Given the description of an element on the screen output the (x, y) to click on. 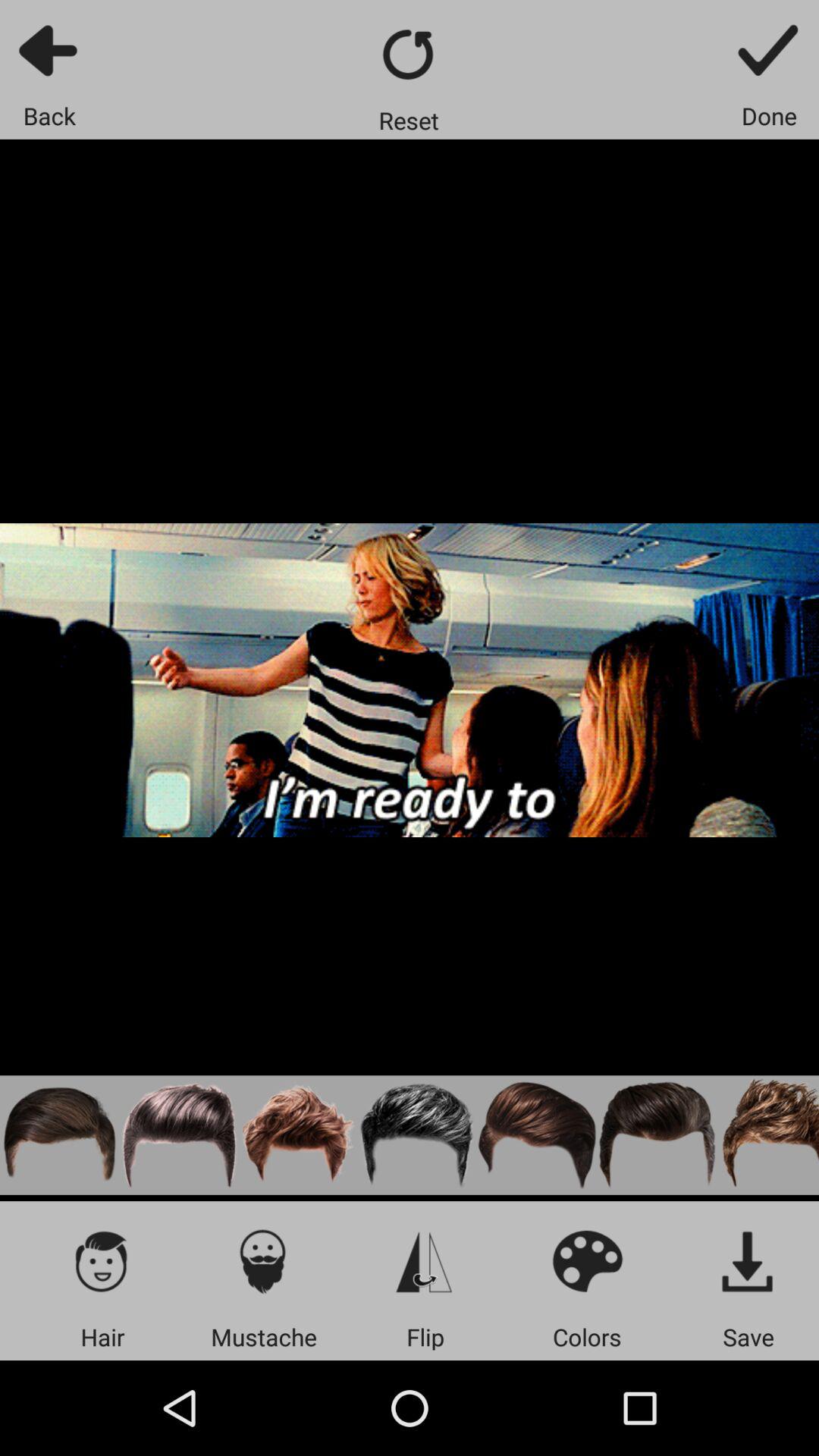
finish selection (769, 49)
